Given the description of an element on the screen output the (x, y) to click on. 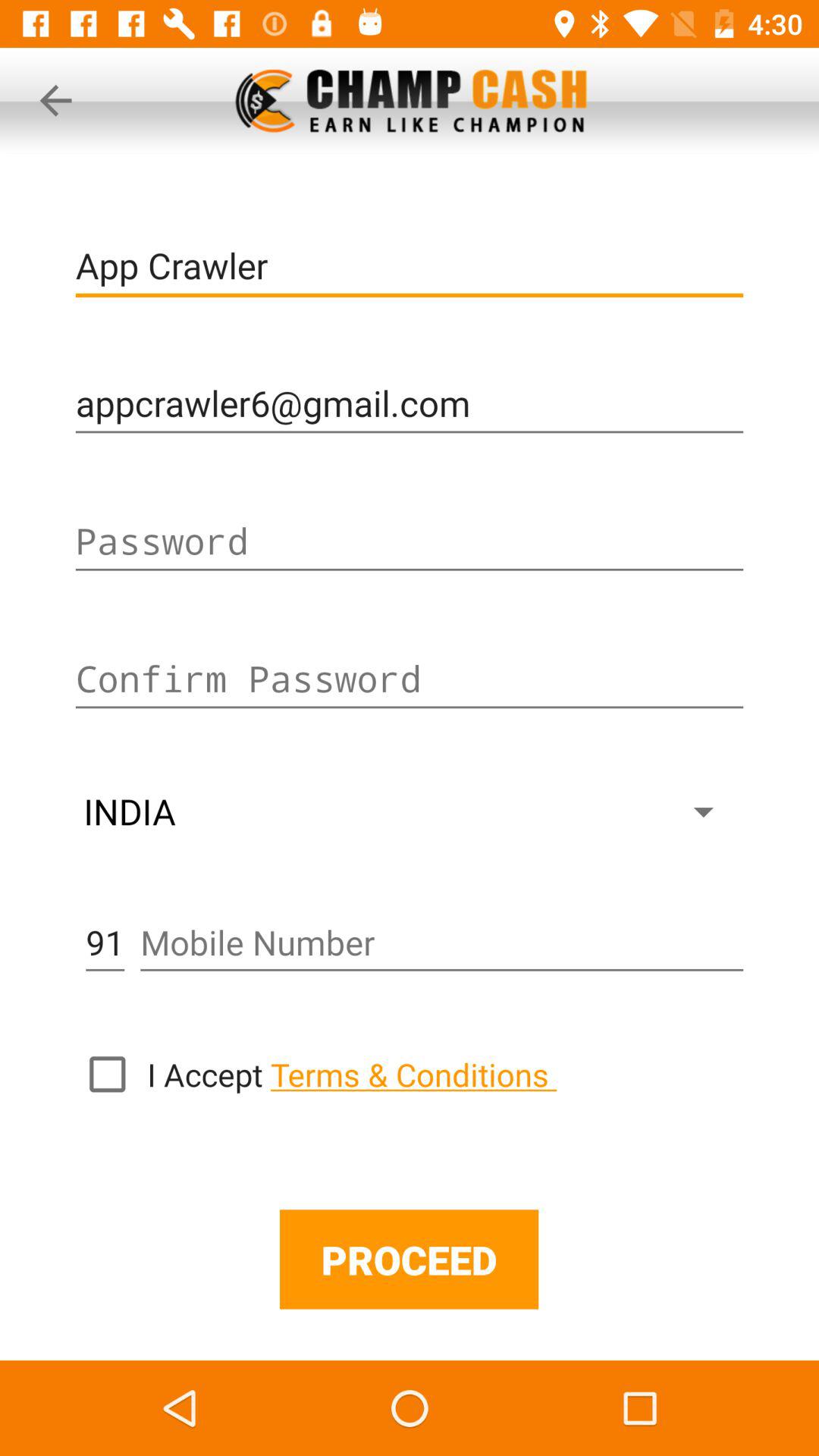
inbox (107, 1074)
